Given the description of an element on the screen output the (x, y) to click on. 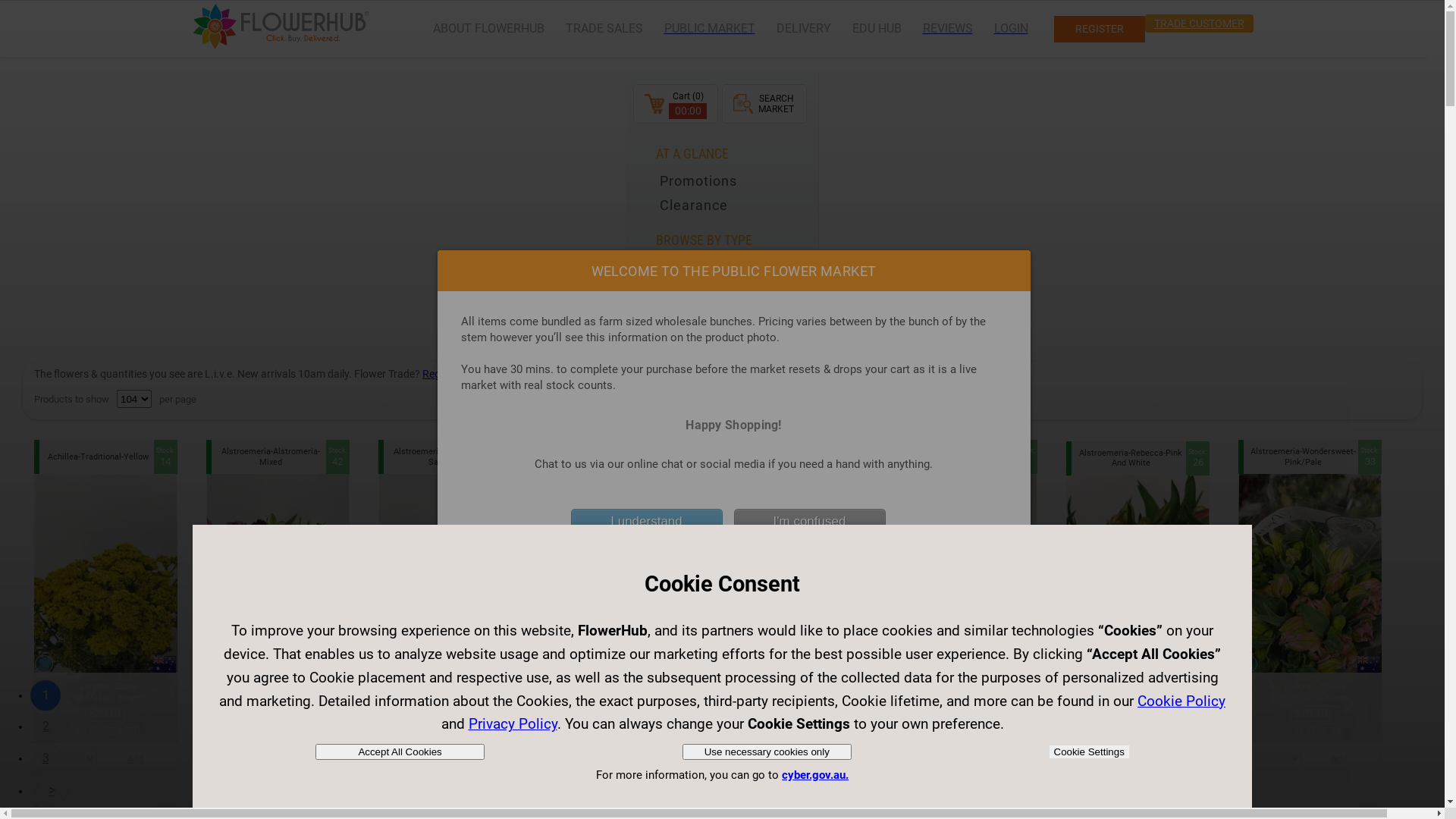
Show More Element type: text (693, 291)
REGISTER Element type: text (1099, 28)
Cookie Policy Element type: text (1181, 700)
cyber.gov.au. Element type: text (814, 774)
Add Element type: text (1340, 758)
Register Element type: text (441, 373)
TRADE CUSTOMER Element type: text (1199, 22)
Flowerhub Element type: hover (279, 26)
Show full image Element type: hover (1248, 663)
3 Element type: text (45, 758)
Accept All Cookies Element type: text (399, 751)
Login Element type: text (478, 373)
PUBLIC MARKET Element type: text (709, 28)
Add Element type: text (823, 758)
Add Element type: text (308, 758)
> Element type: text (51, 790)
AU Element type: hover (1368, 664)
All Element type: text (732, 267)
Privacy Policy Element type: text (512, 723)
Add Element type: text (651, 757)
LOGIN Element type: text (1010, 28)
AU Element type: hover (508, 664)
I understand Element type: text (645, 520)
Show full image Element type: hover (1075, 662)
Show full image Element type: hover (216, 663)
Add Element type: text (996, 758)
Show full image Element type: hover (388, 663)
REVIEWS Element type: text (947, 28)
AU Element type: hover (680, 662)
I'm confused Element type: text (809, 520)
Promotions Element type: text (732, 181)
Show full image Element type: hover (43, 663)
Add Element type: text (136, 758)
Cart (0)
00:00 Element type: text (675, 103)
Add Element type: text (479, 758)
AU Element type: hover (852, 664)
Add Element type: text (1168, 757)
AU Element type: hover (164, 664)
Use necessary cookies only Element type: text (766, 751)
AU Element type: hover (1196, 662)
Cookie Settings Element type: text (1089, 751)
AU Element type: hover (336, 664)
2 Element type: text (45, 726)
Show full image Element type: hover (903, 663)
AU Element type: hover (1024, 664)
Clearance Element type: text (732, 205)
Show full image Element type: hover (732, 663)
Show full image Element type: hover (560, 662)
